Given the description of an element on the screen output the (x, y) to click on. 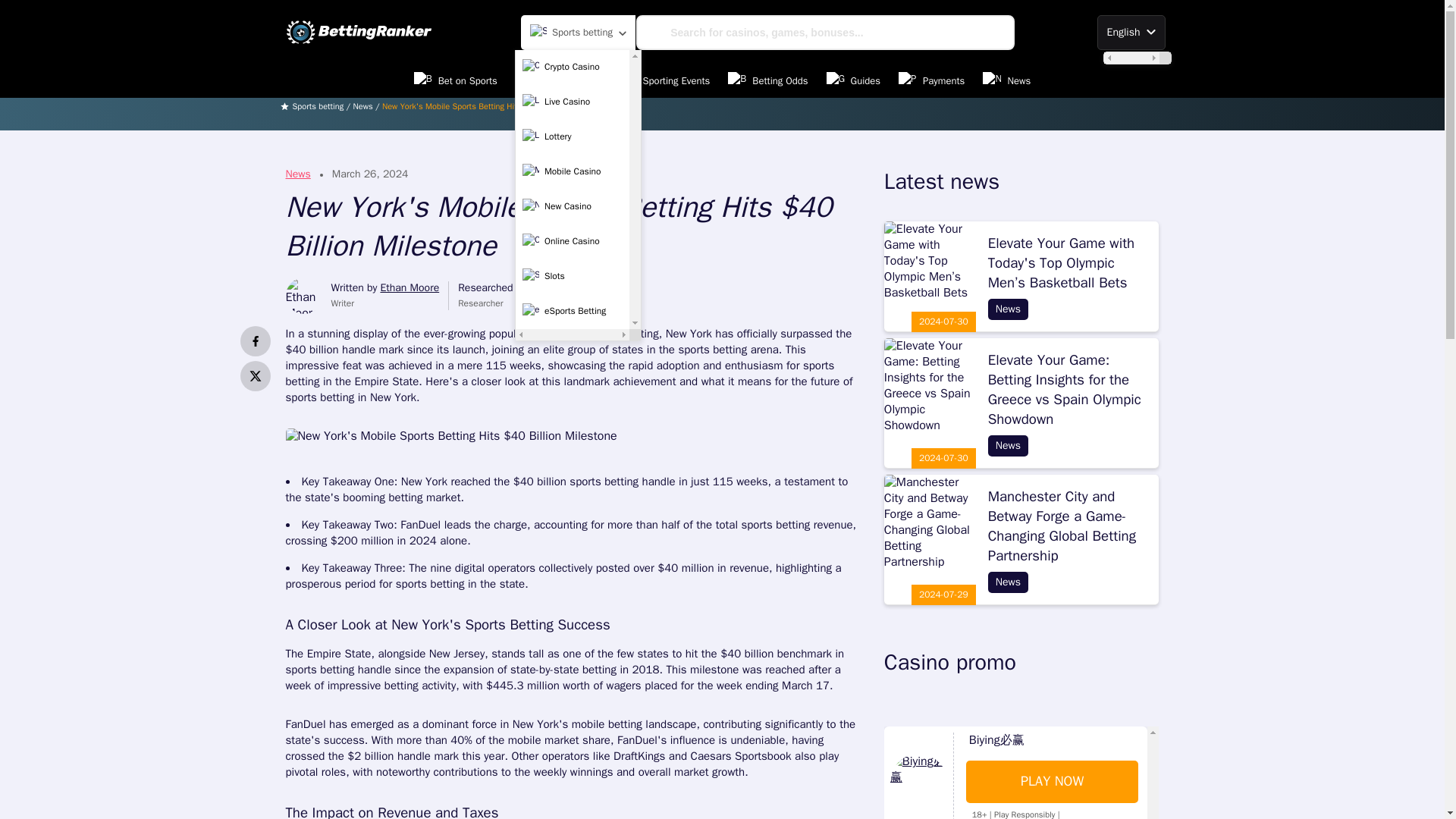
Mobile Casino (572, 172)
Live Casino (572, 102)
Lottery (572, 136)
Bet on Sports (455, 80)
Sporting Events (664, 80)
eSports Betting (572, 311)
New Casino (572, 206)
Slots (572, 276)
Online Betting (557, 80)
Betting Odds (768, 80)
Online Casino (572, 241)
Crypto Casino (572, 67)
Guides (853, 80)
